Given the description of an element on the screen output the (x, y) to click on. 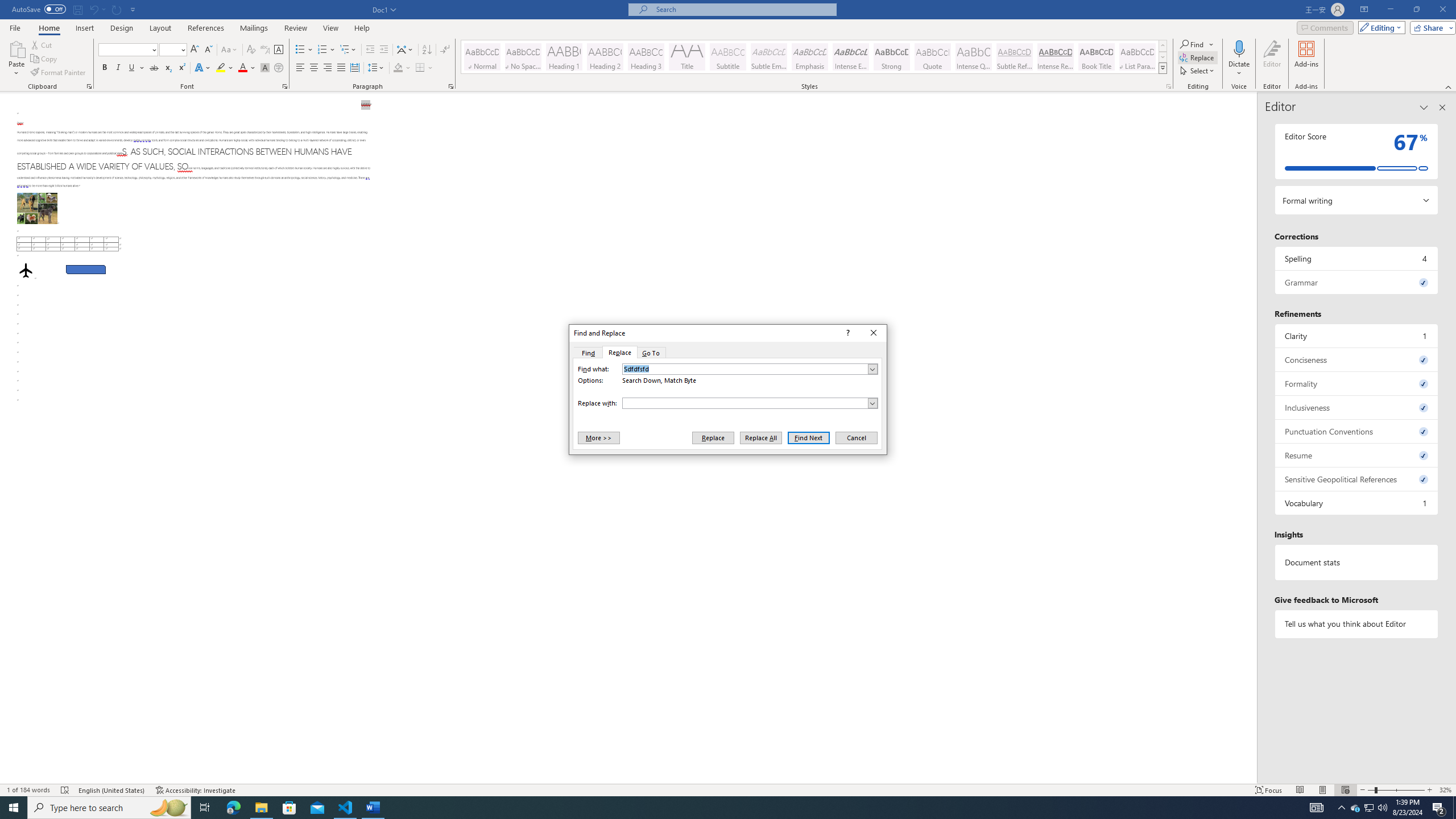
Replace with: (749, 402)
Microsoft Edge (233, 807)
